Given the description of an element on the screen output the (x, y) to click on. 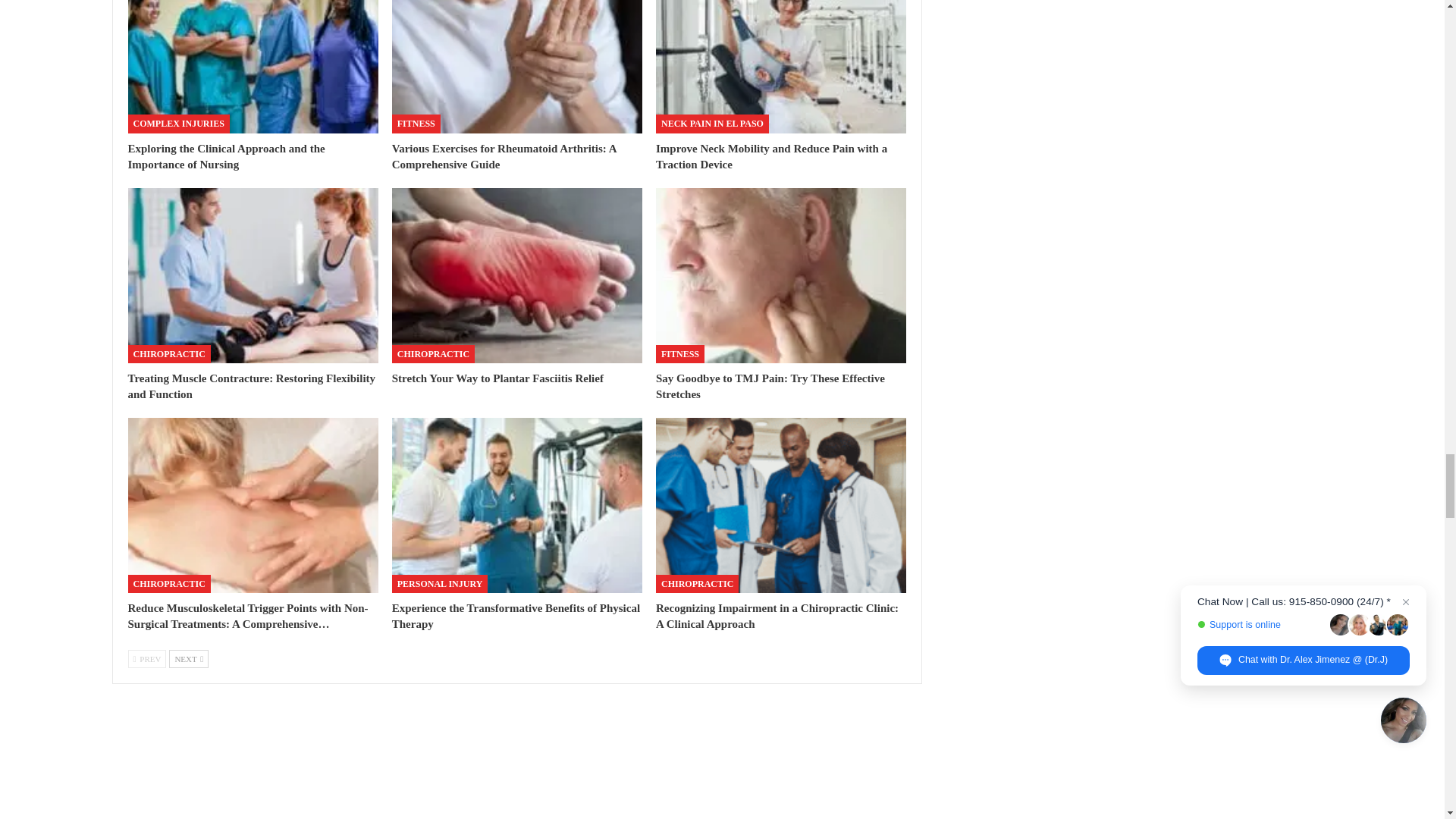
Improve Neck Mobility and Reduce Pain with a Traction Device (780, 66)
Improve Neck Mobility and Reduce Pain with a Traction Device (771, 156)
